Given the description of an element on the screen output the (x, y) to click on. 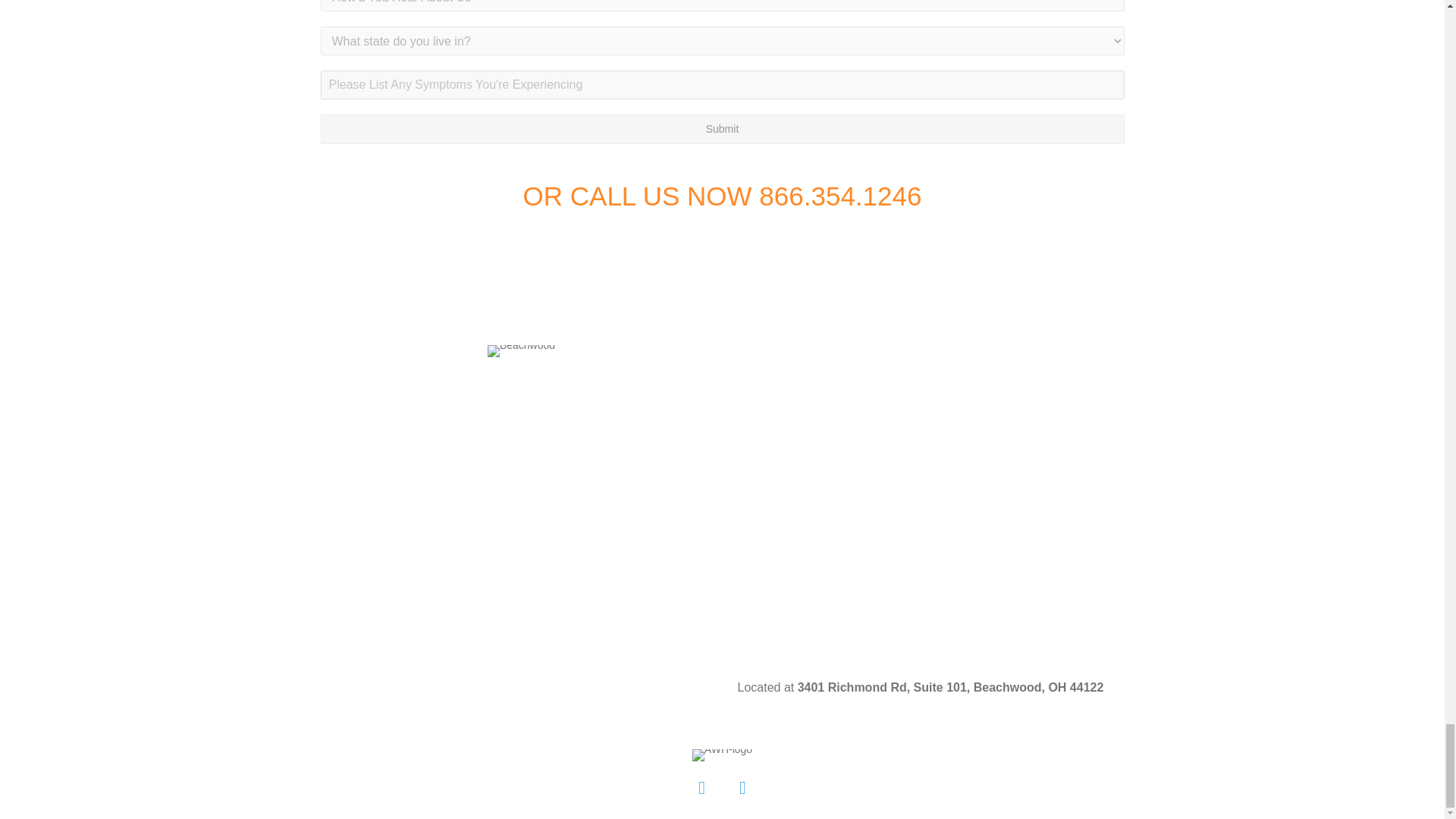
866.354.1246 (839, 195)
Instagram (742, 787)
Facebook (701, 787)
Beachwood (520, 350)
Submit (722, 129)
AWH-logo (722, 755)
